Given the description of an element on the screen output the (x, y) to click on. 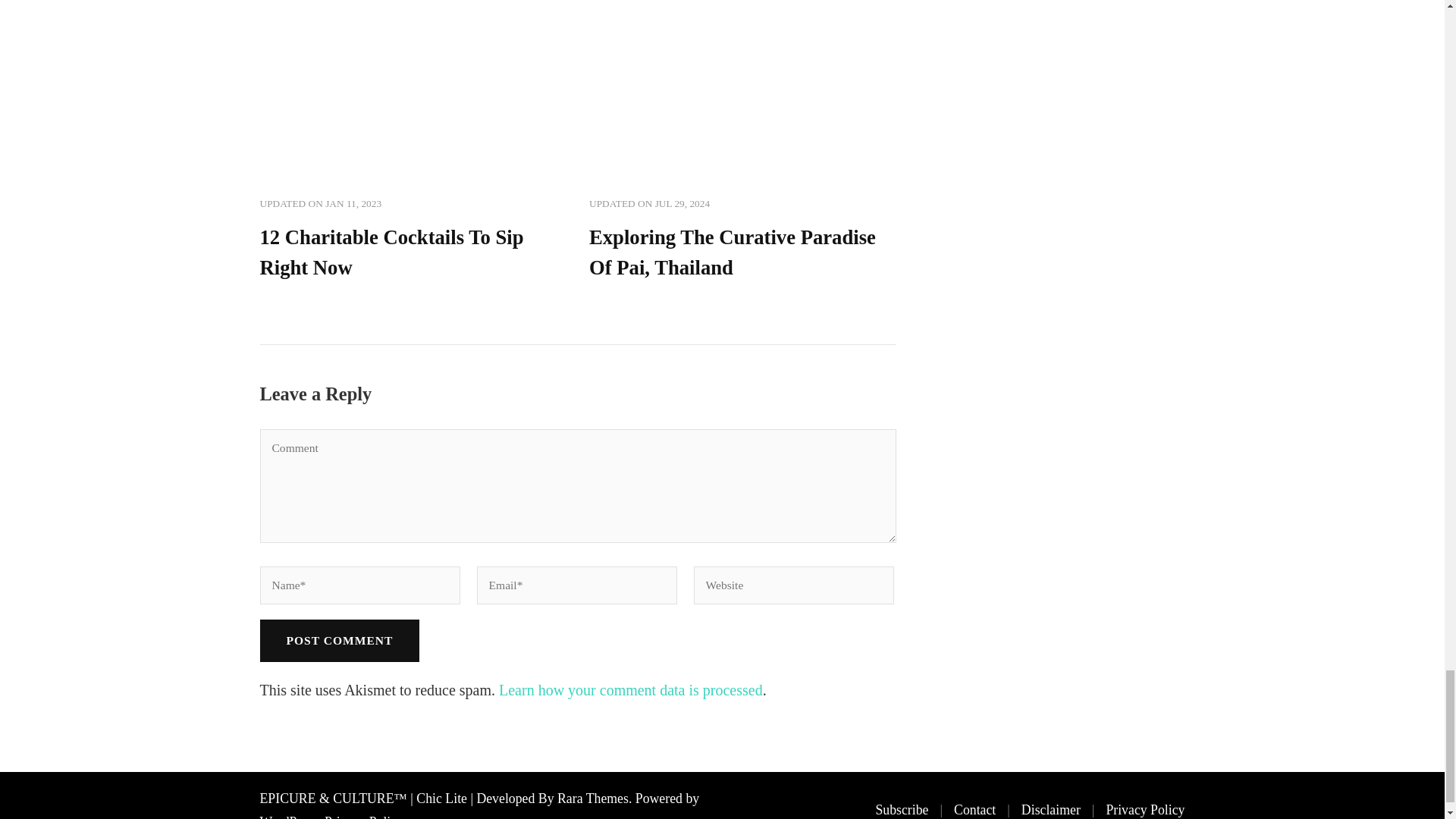
Post Comment (339, 640)
